Given the description of an element on the screen output the (x, y) to click on. 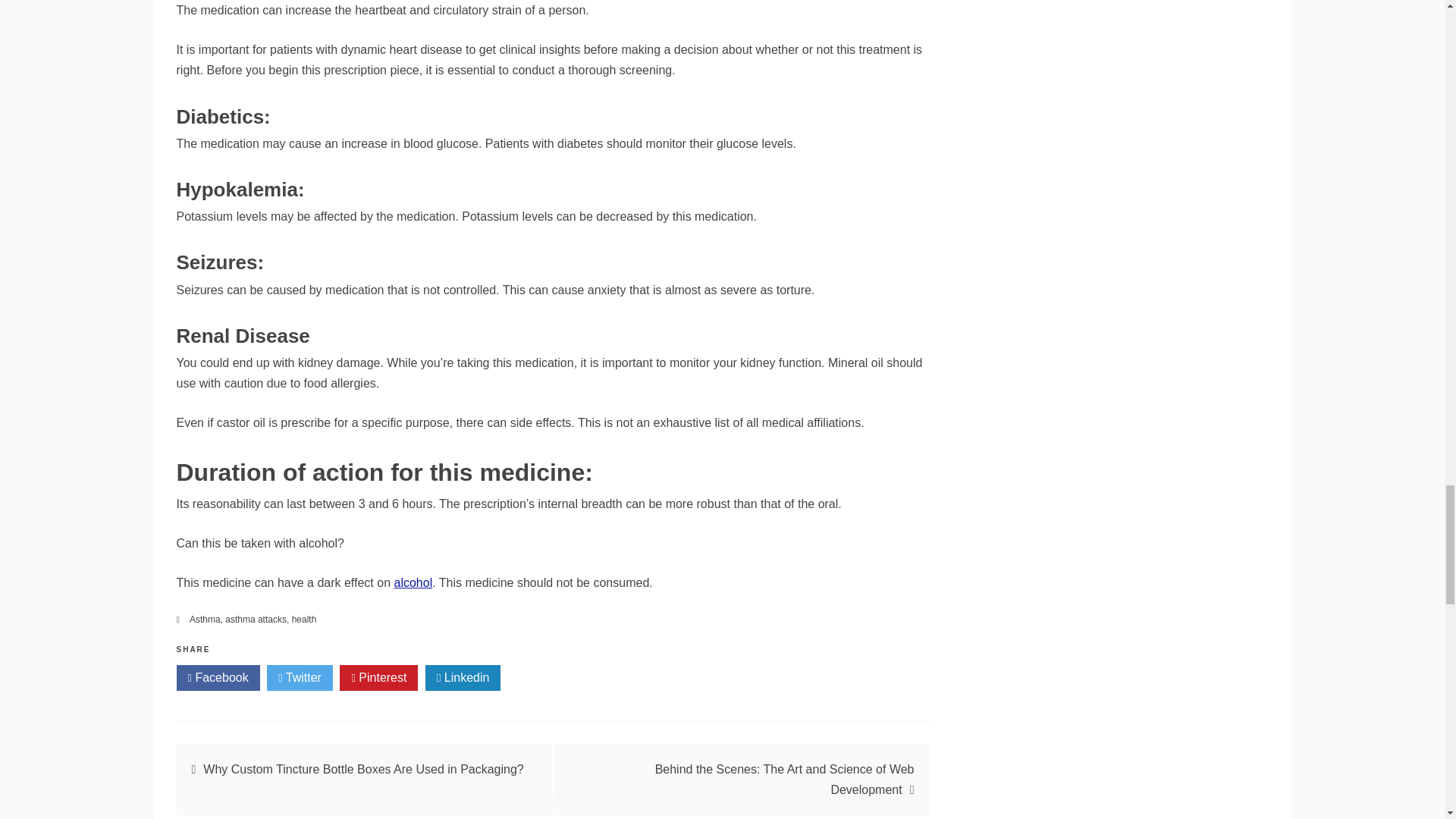
asthma attacks (255, 619)
Asthma (205, 619)
health (304, 619)
alcohol (412, 582)
